Given the description of an element on the screen output the (x, y) to click on. 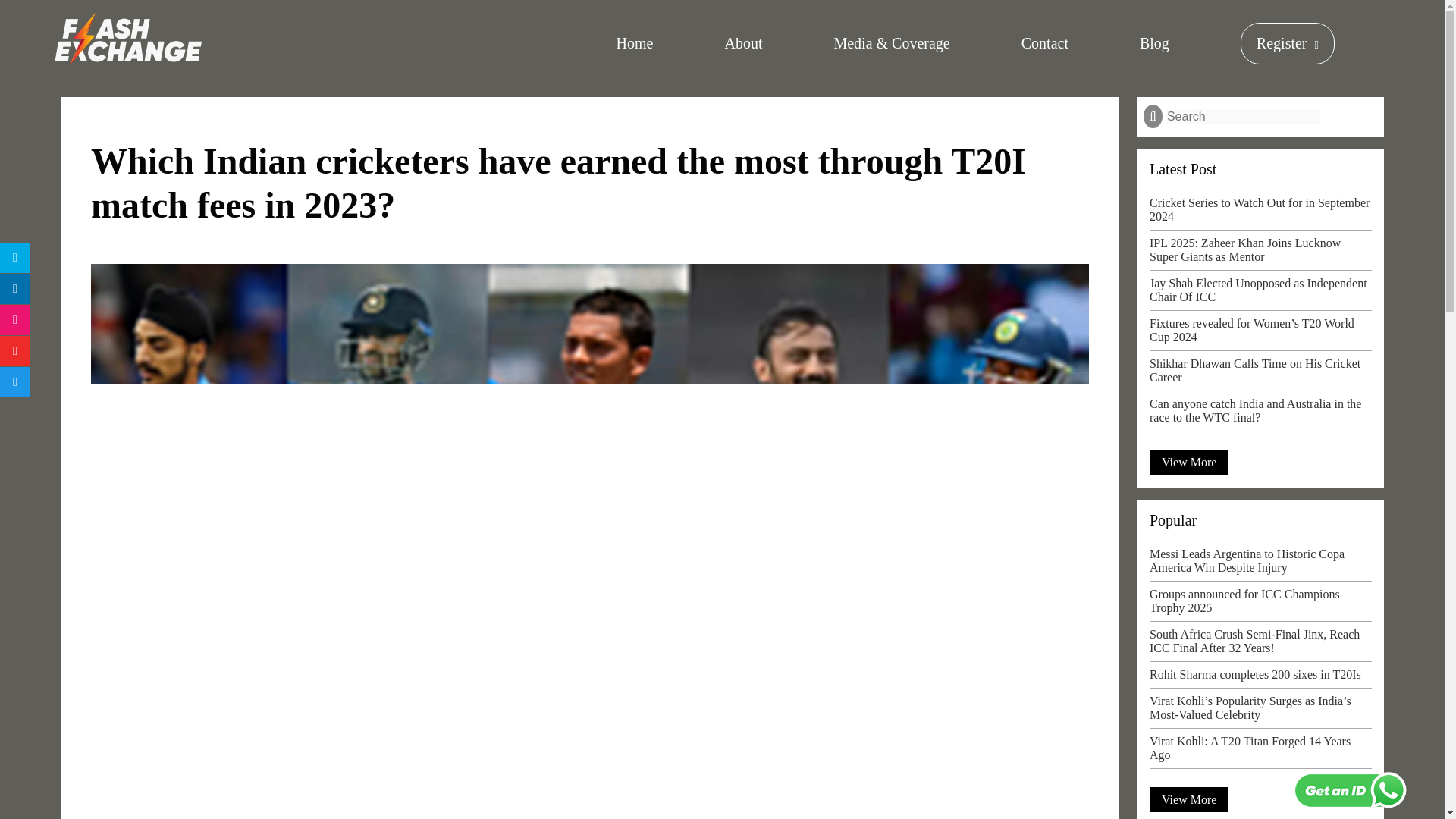
View More (1189, 799)
About (742, 43)
View More (1189, 462)
Contact (1045, 43)
Groups announced for ICC Champions Trophy 2025 (1260, 604)
Jay Shah Elected Unopposed as Independent Chair Of ICC (1260, 293)
Cricket Series to Watch Out for in September 2024 (1260, 213)
IPL 2025: Zaheer Khan Joins Lucknow Super Giants as Mentor (1260, 253)
